Given the description of an element on the screen output the (x, y) to click on. 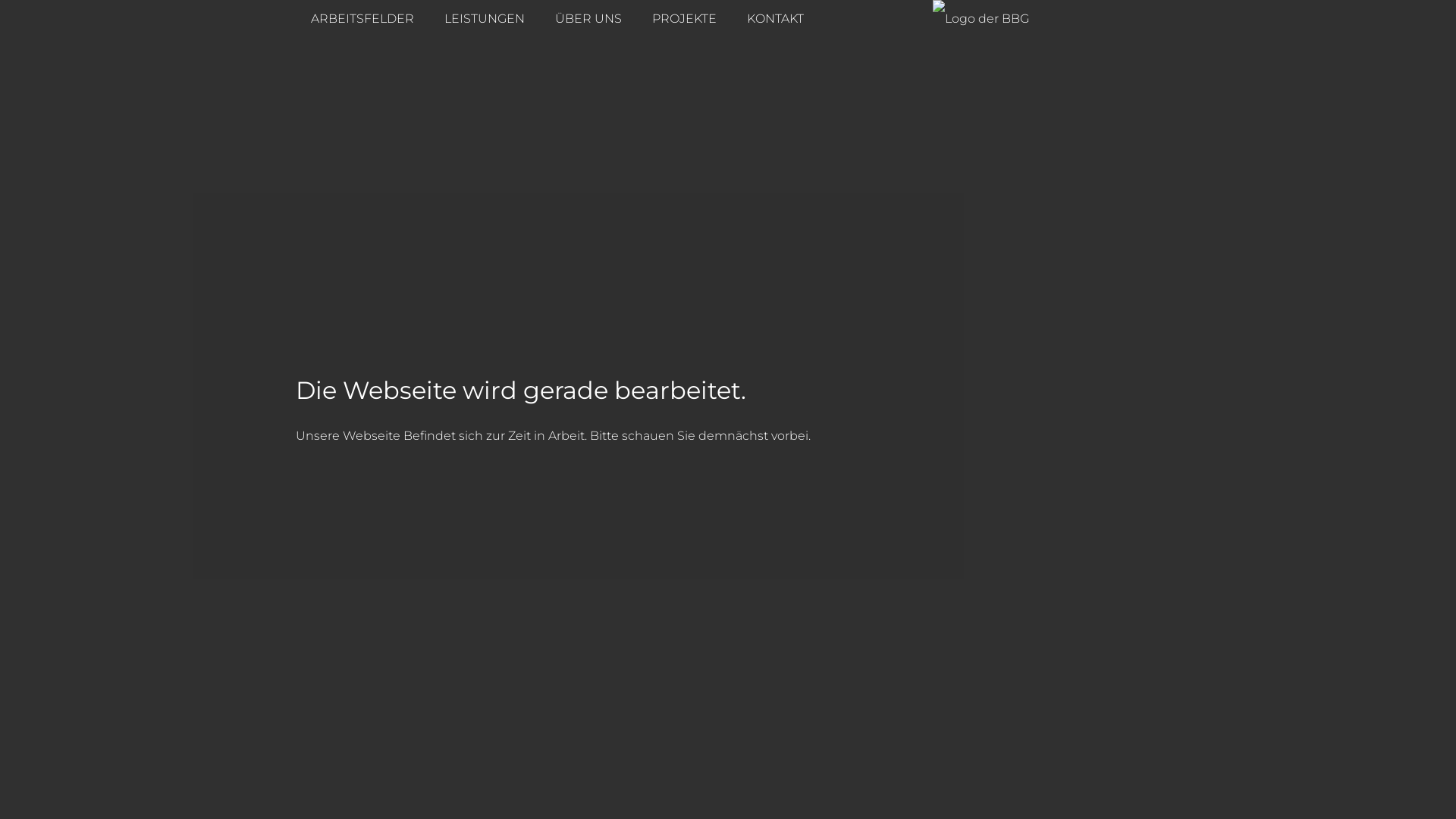
KONTAKT Element type: text (775, 18)
PROJEKTE Element type: text (684, 18)
LEISTUNGEN Element type: text (484, 18)
ARBEITSFELDER Element type: text (362, 18)
